Given the description of an element on the screen output the (x, y) to click on. 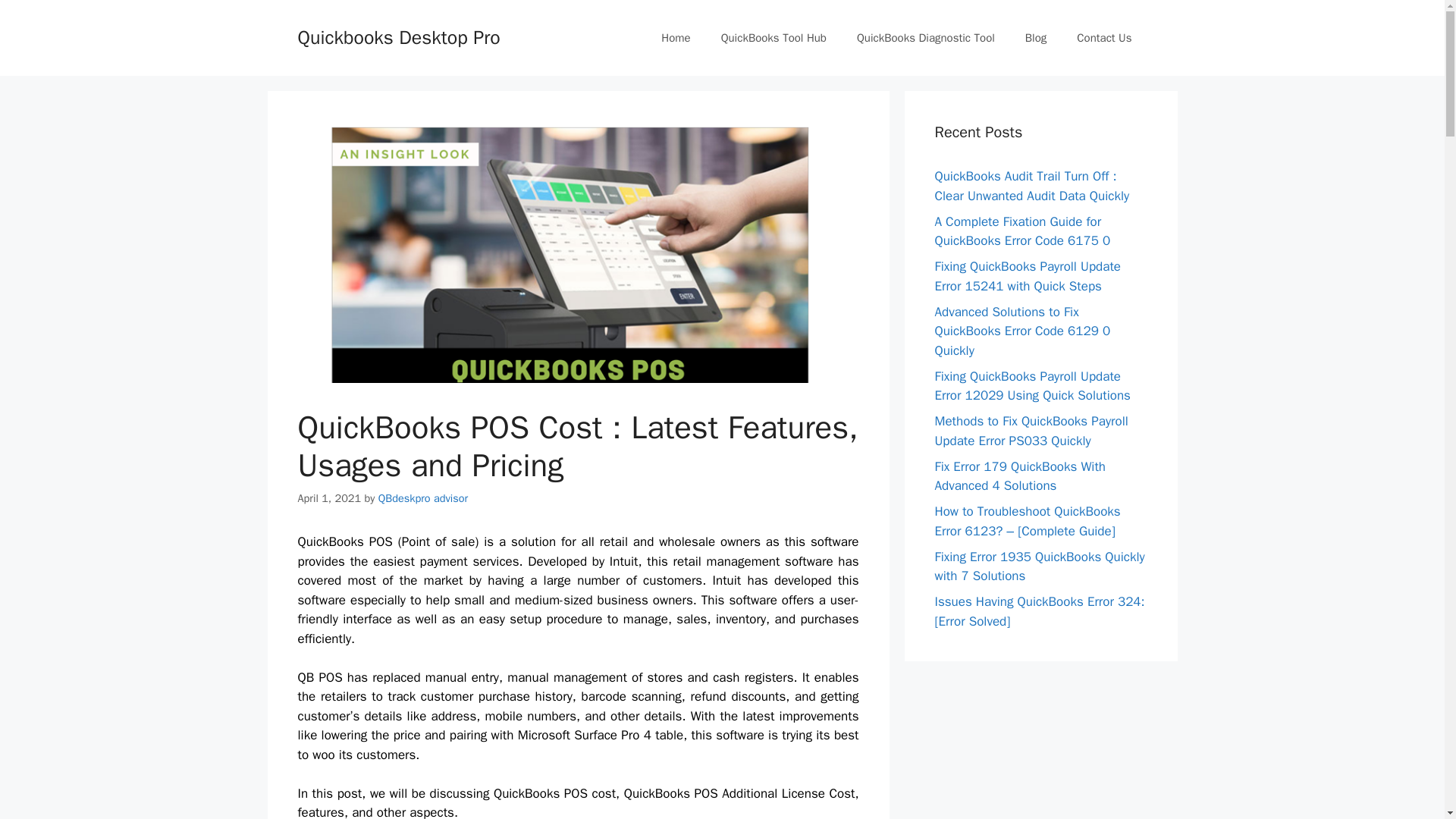
Contact Us (1104, 37)
View all posts by QBdeskpro advisor (423, 498)
Fixing Error 1935 QuickBooks Quickly with 7 Solutions (1039, 566)
Blog (1035, 37)
Home (675, 37)
Quickbooks Desktop Pro (398, 37)
QuickBooks Diagnostic Tool (925, 37)
A Complete Fixation Guide for QuickBooks Error Code 6175 0 (1021, 231)
